Given the description of an element on the screen output the (x, y) to click on. 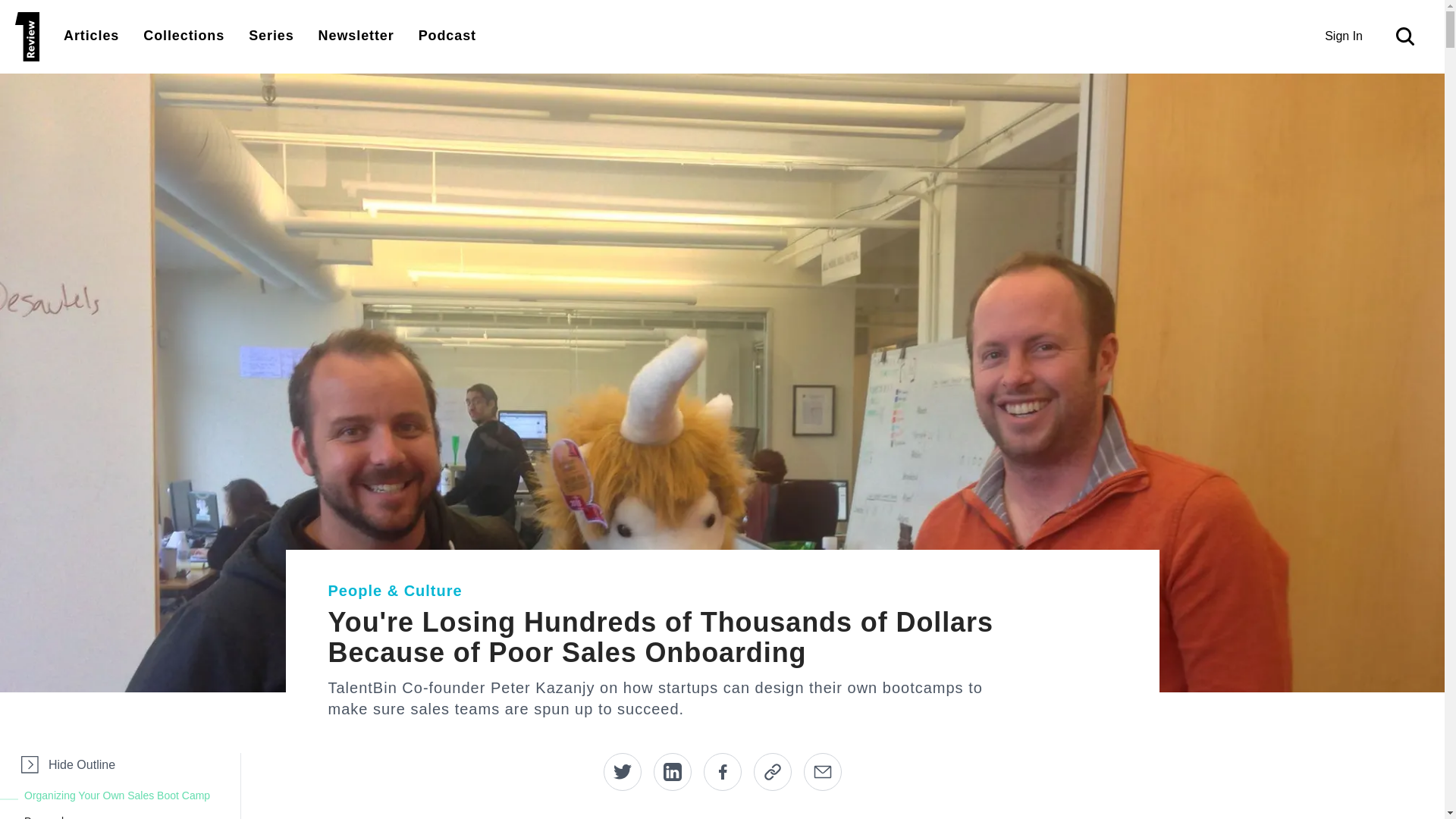
Share on Facebook (722, 771)
Sign In (1343, 36)
Copy URL (773, 771)
Search (1408, 36)
Collections (182, 35)
Share by email (822, 771)
Pre-work (129, 815)
Share on Linkedin (672, 771)
Hide Outline (66, 764)
Podcast (446, 35)
